Given the description of an element on the screen output the (x, y) to click on. 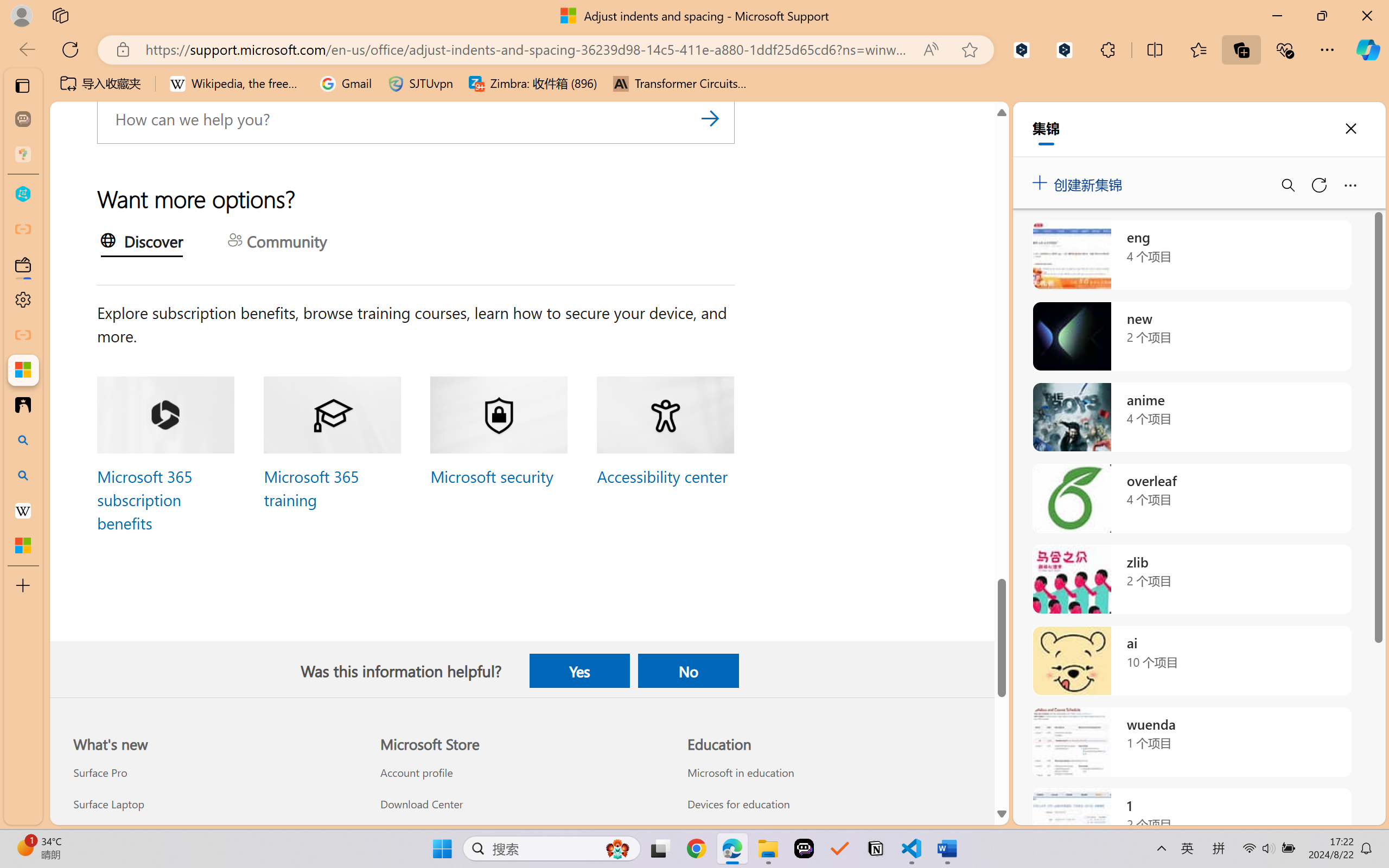
Microsoft security (490, 475)
Download Center (521, 803)
Microsoft in education Education (740, 772)
SJTUvpn (419, 83)
Yes (578, 670)
